Given the description of an element on the screen output the (x, y) to click on. 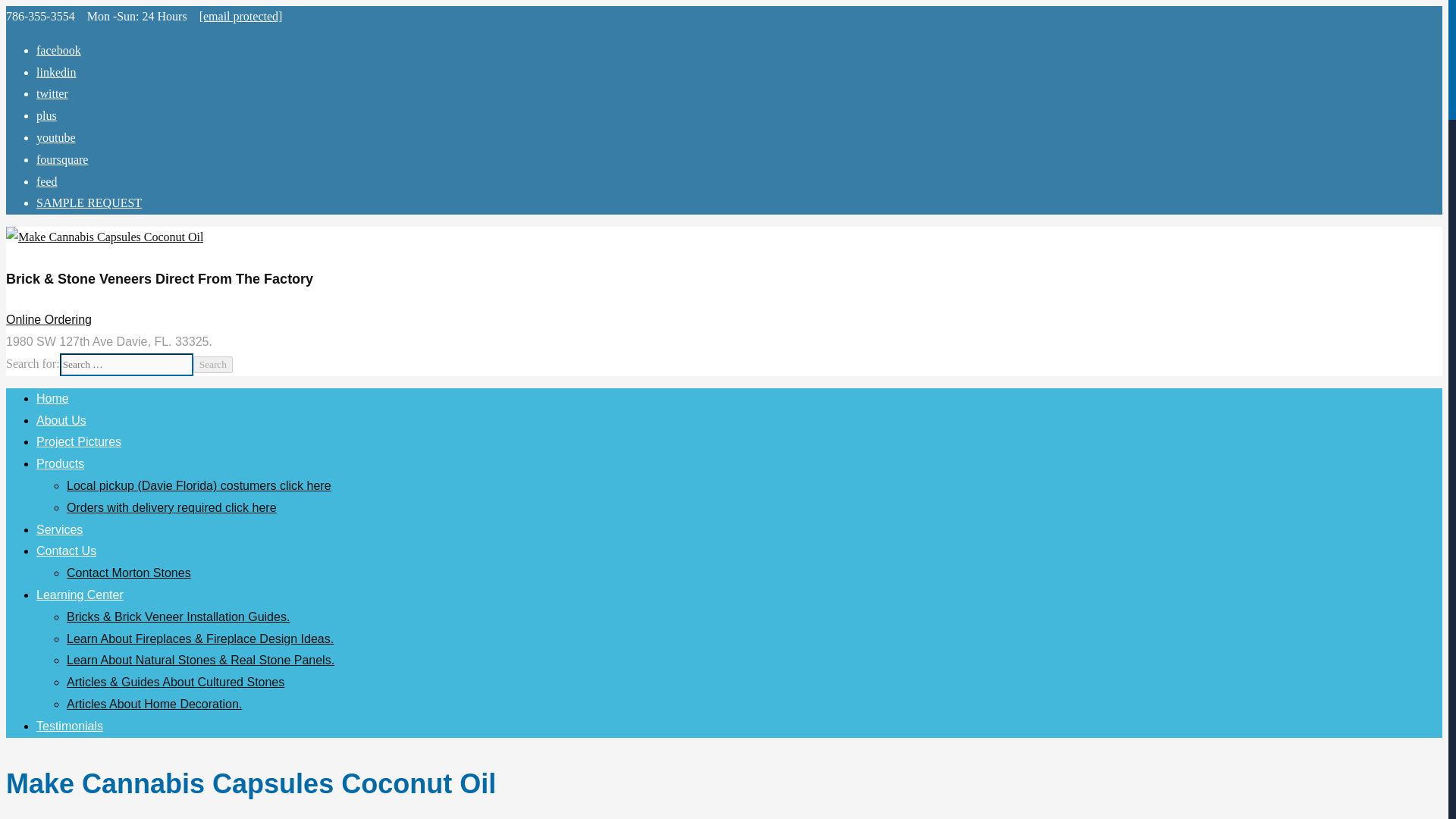
Project Pictures (78, 440)
Learning Center (79, 594)
twitter (52, 92)
Search (212, 364)
Articles About Home Decoration. (153, 703)
Contact Us (66, 550)
foursquare (61, 159)
Home (52, 398)
feed (47, 181)
Search (212, 364)
Orders with delivery required click here (171, 507)
facebook (58, 50)
Services (59, 529)
Testimonials (69, 725)
Contact Morton Stones (128, 572)
